Given the description of an element on the screen output the (x, y) to click on. 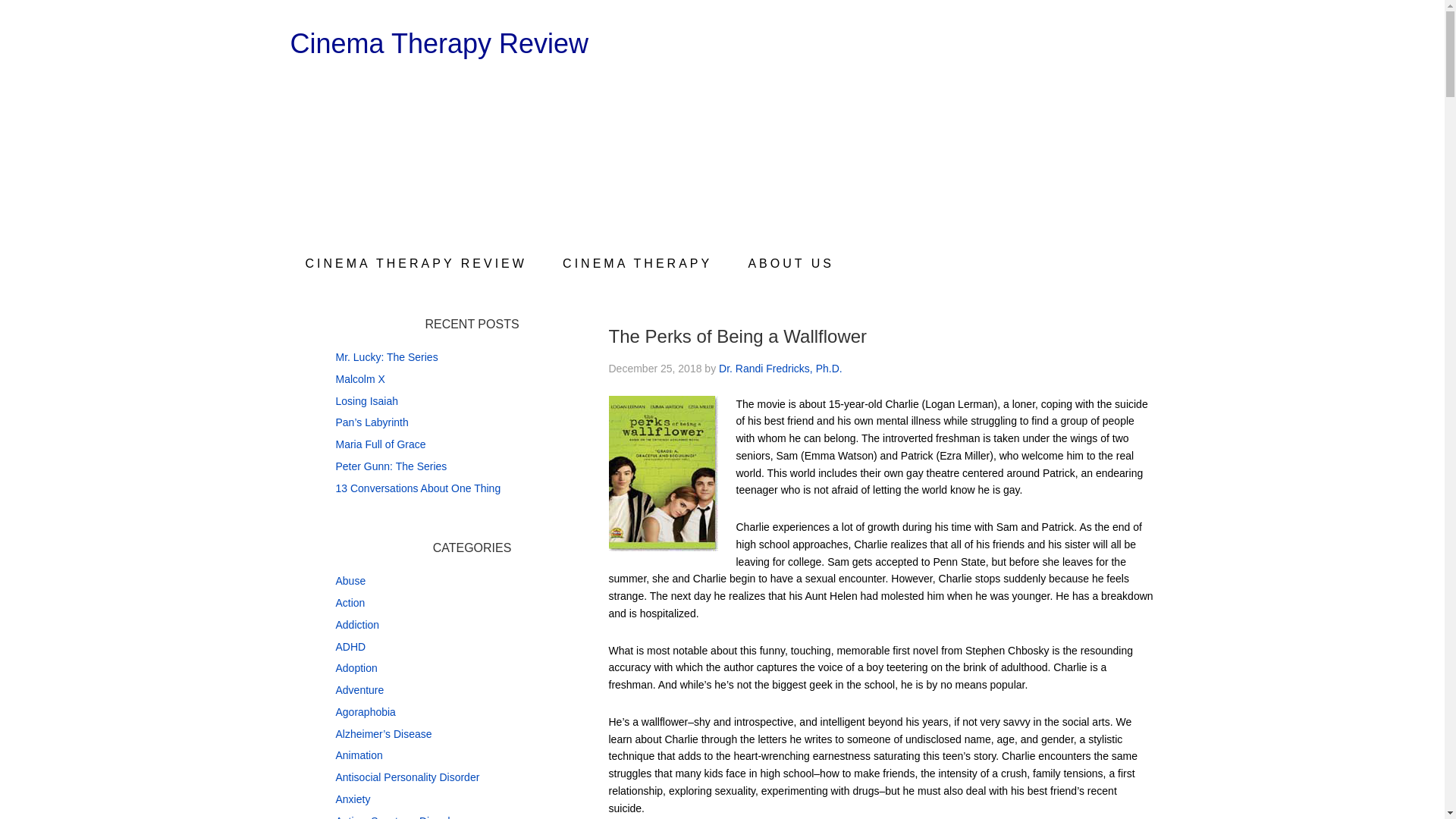
Maria Full of Grace (379, 444)
Losing Isaiah (365, 399)
Malcolm X (359, 378)
CINEMA THERAPY REVIEW (415, 263)
Agoraphobia (364, 711)
CINEMA THERAPY (636, 263)
ABOUT US (790, 263)
Animation (357, 755)
ADHD (349, 645)
Addiction (356, 624)
Adoption (355, 667)
Anxiety (351, 799)
Peter Gunn: The Series (390, 466)
Antisocial Personality Disorder (406, 776)
Dr. Randi Fredricks, Ph.D. (781, 368)
